Given the description of an element on the screen output the (x, y) to click on. 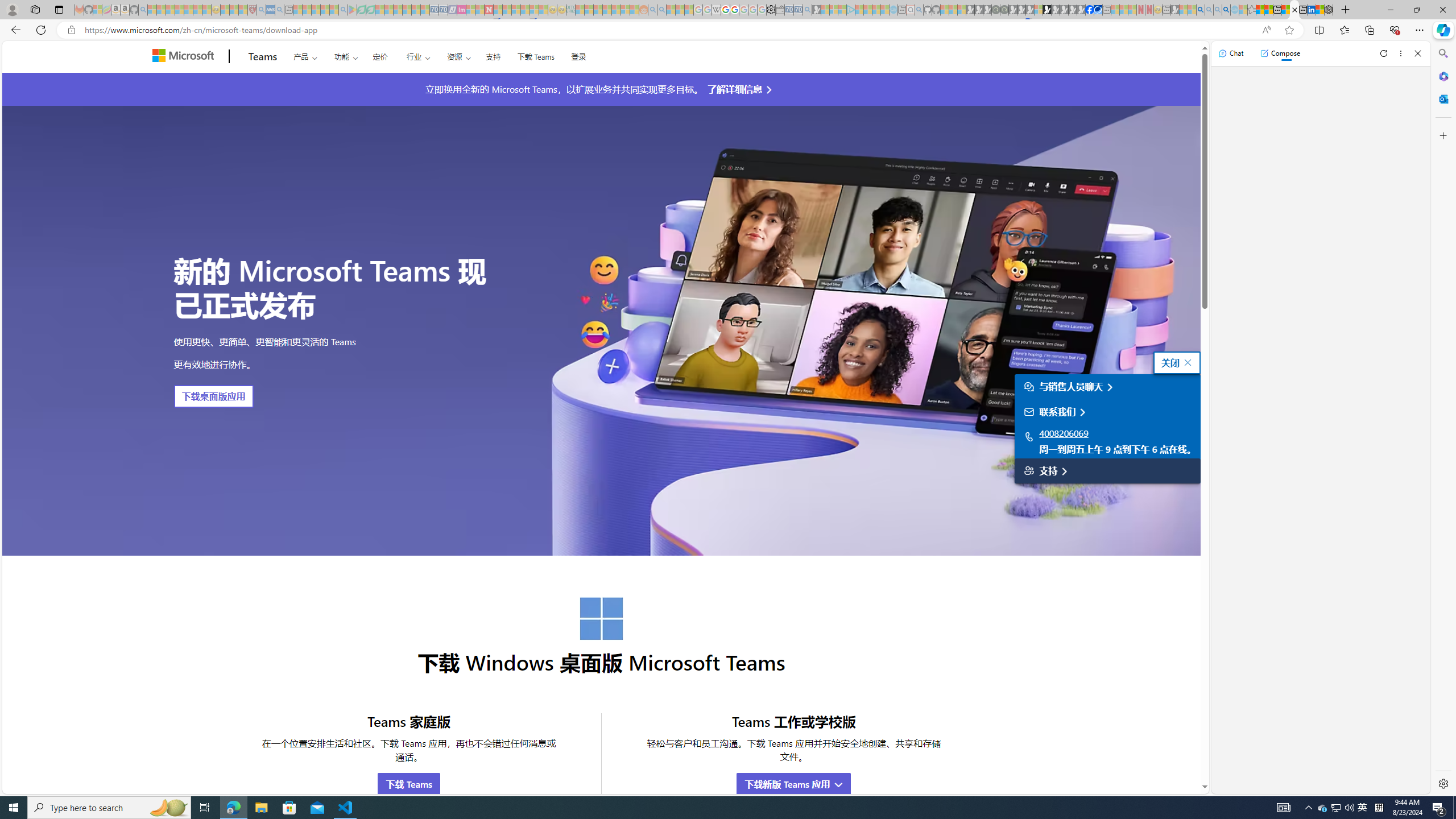
AQI & Health | AirNow.gov (1098, 9)
